Given the description of an element on the screen output the (x, y) to click on. 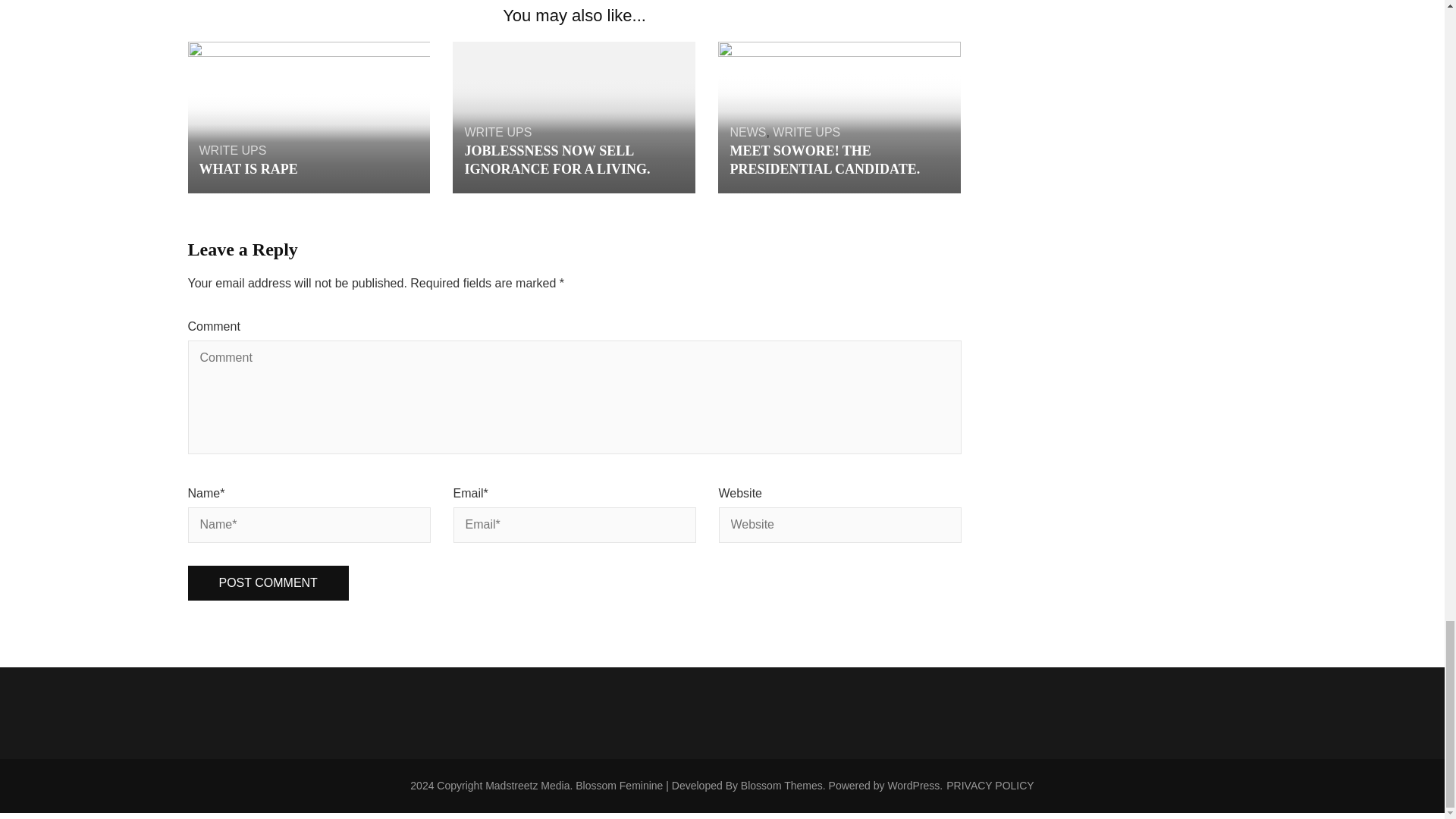
Post Comment (268, 583)
